Given the description of an element on the screen output the (x, y) to click on. 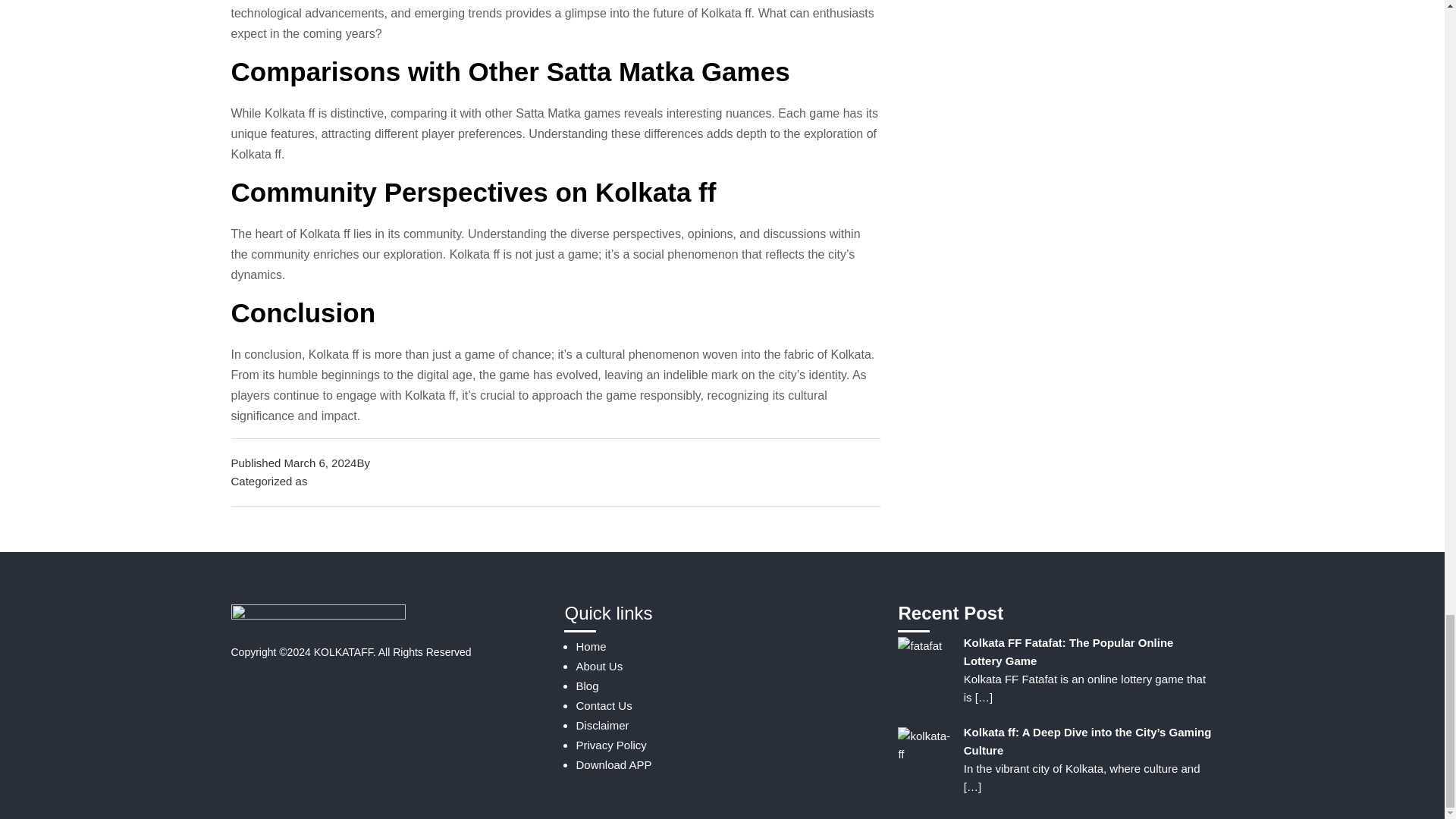
Babai (386, 462)
Download APP (612, 764)
About Us (599, 666)
Contact Us (603, 705)
Kolkata FF Fatafat: The Popular Online Lottery Game (1068, 651)
Home (590, 645)
Blog (322, 481)
Disclaimer (601, 725)
Blog (586, 685)
Privacy Policy (610, 744)
